Given the description of an element on the screen output the (x, y) to click on. 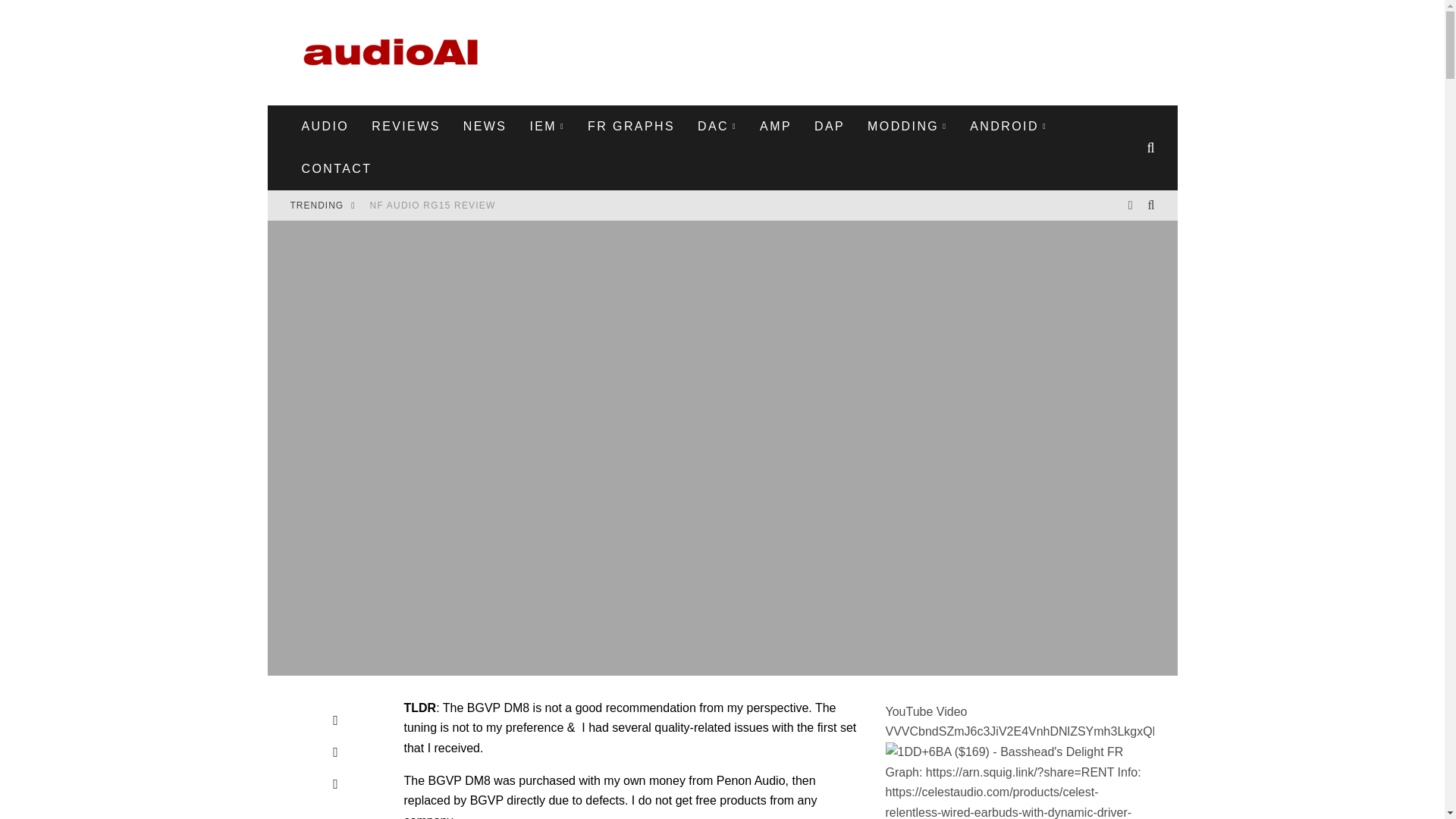
REVIEWS (405, 126)
AUDIO (324, 126)
